Given the description of an element on the screen output the (x, y) to click on. 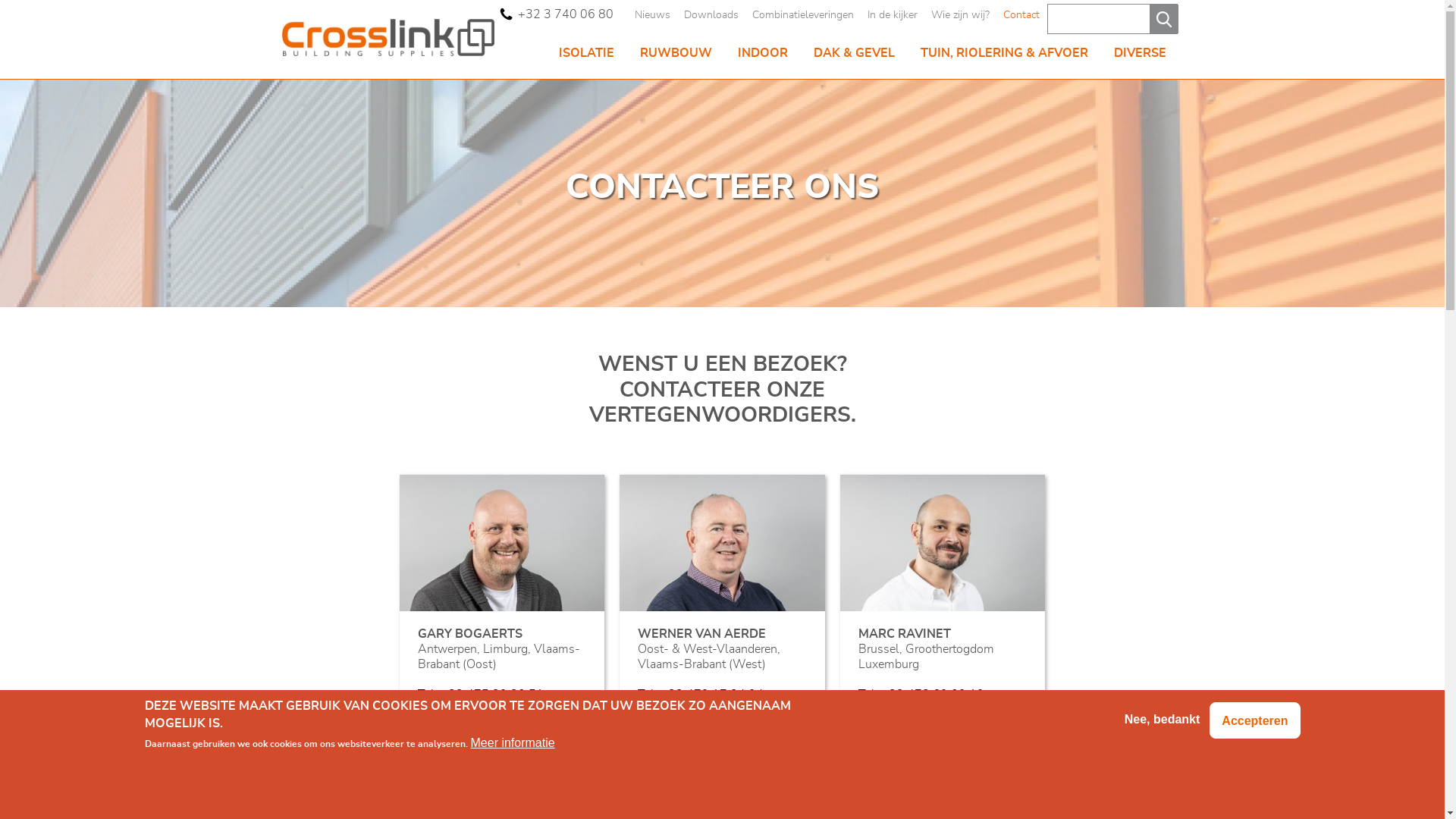
Wie zijn wij? Element type: text (960, 16)
+32 3 740 06 80 Element type: text (555, 14)
Meer informatie Element type: text (512, 742)
Contacteer Gary Element type: text (501, 738)
ISOLATIE Element type: text (586, 52)
Geef de woorden op waarnaar u wilt zoeken. Element type: hover (1105, 18)
TUIN, RIOLERING & AFVOER Element type: text (1003, 52)
INDOOR Element type: text (762, 52)
Overslaan en naar de inhoud gaan Element type: text (0, 0)
In de kijker Element type: text (892, 16)
Contacteer Marc Element type: text (942, 738)
Nieuws Element type: text (651, 16)
Accepteren Element type: text (1254, 720)
RUWBOUW Element type: text (674, 52)
Downloads Element type: text (711, 16)
Contact Element type: text (1020, 16)
Tel. +32 479 17 24 94 Element type: text (700, 694)
Tel. +32 475 39 30 51 Element type: text (480, 694)
Contacteer Werner Element type: text (721, 738)
DIVERSE Element type: text (1139, 52)
Nee, bedankt Element type: text (1162, 720)
DAK & GEVEL Element type: text (854, 52)
Search Element type: text (1163, 18)
Combinatieleveringen Element type: text (802, 16)
Tel. +32 478 69 09 19 Element type: text (921, 694)
